Given the description of an element on the screen output the (x, y) to click on. 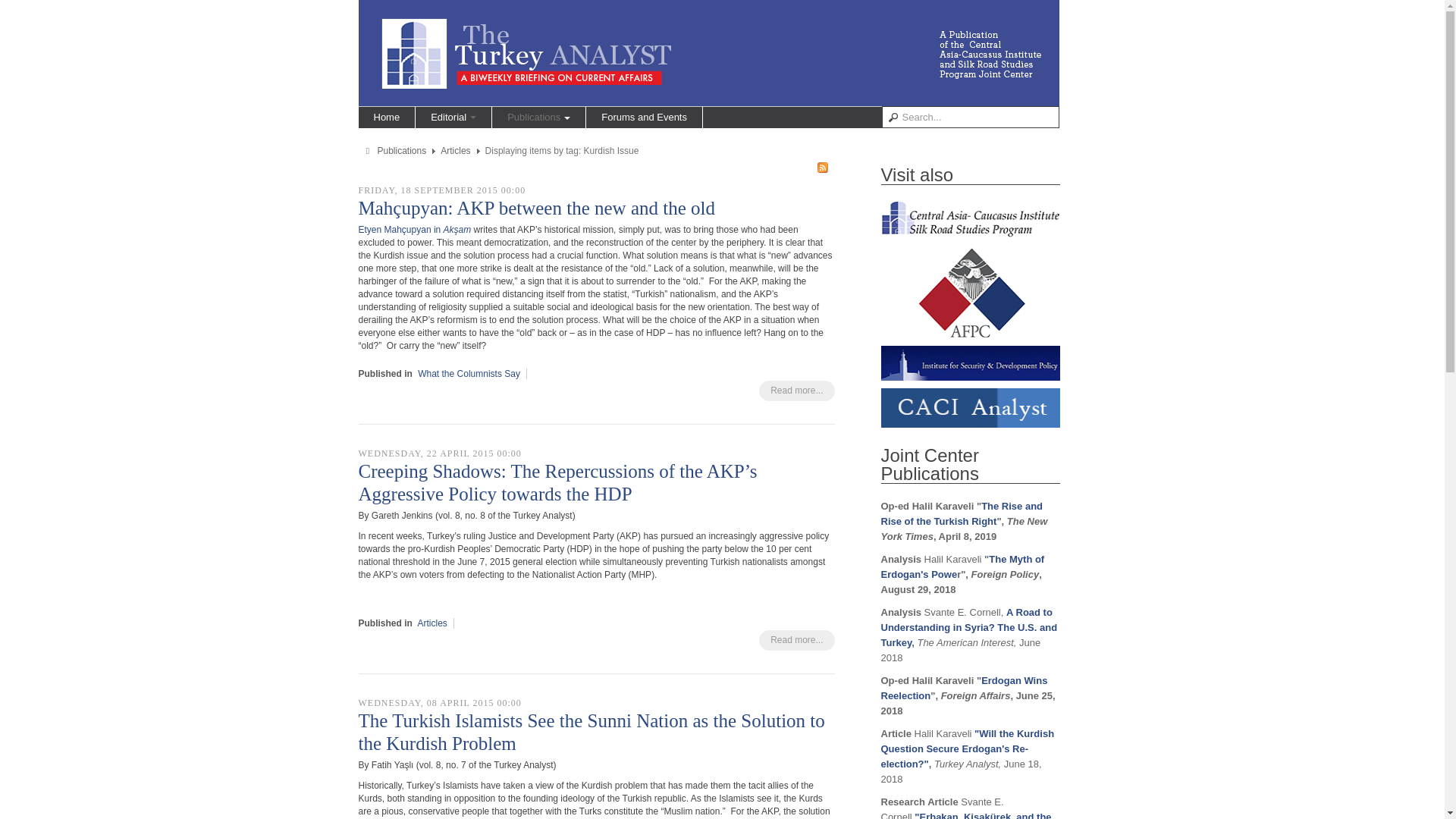
Read more... (796, 390)
Articles (455, 150)
Subscribe to this RSS feed (821, 167)
Editorial (453, 117)
Forums and Events (643, 117)
Home (386, 117)
Read more... (796, 639)
Publications (401, 150)
Publications (538, 117)
What the Columnists Say (468, 373)
Articles (431, 623)
